Given the description of an element on the screen output the (x, y) to click on. 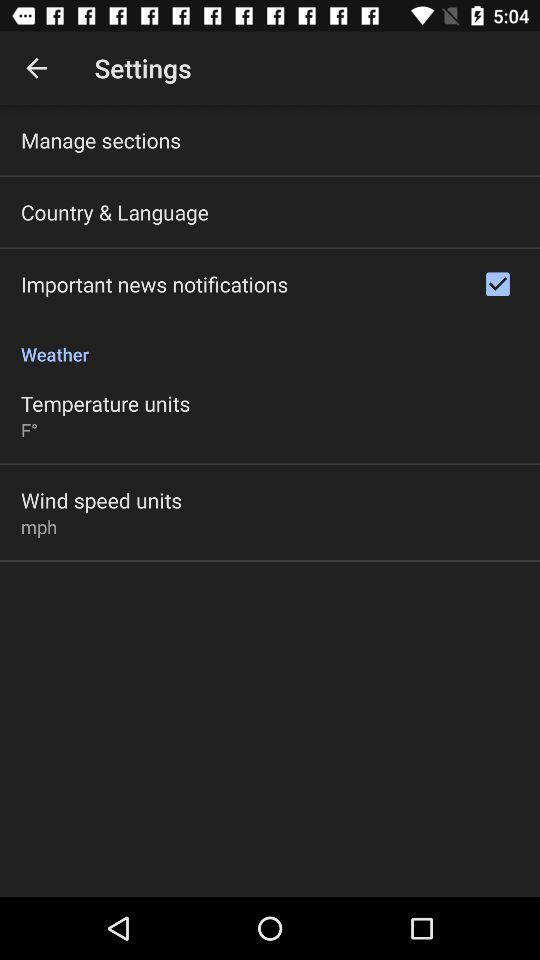
turn off the icon next to settings item (36, 68)
